Given the description of an element on the screen output the (x, y) to click on. 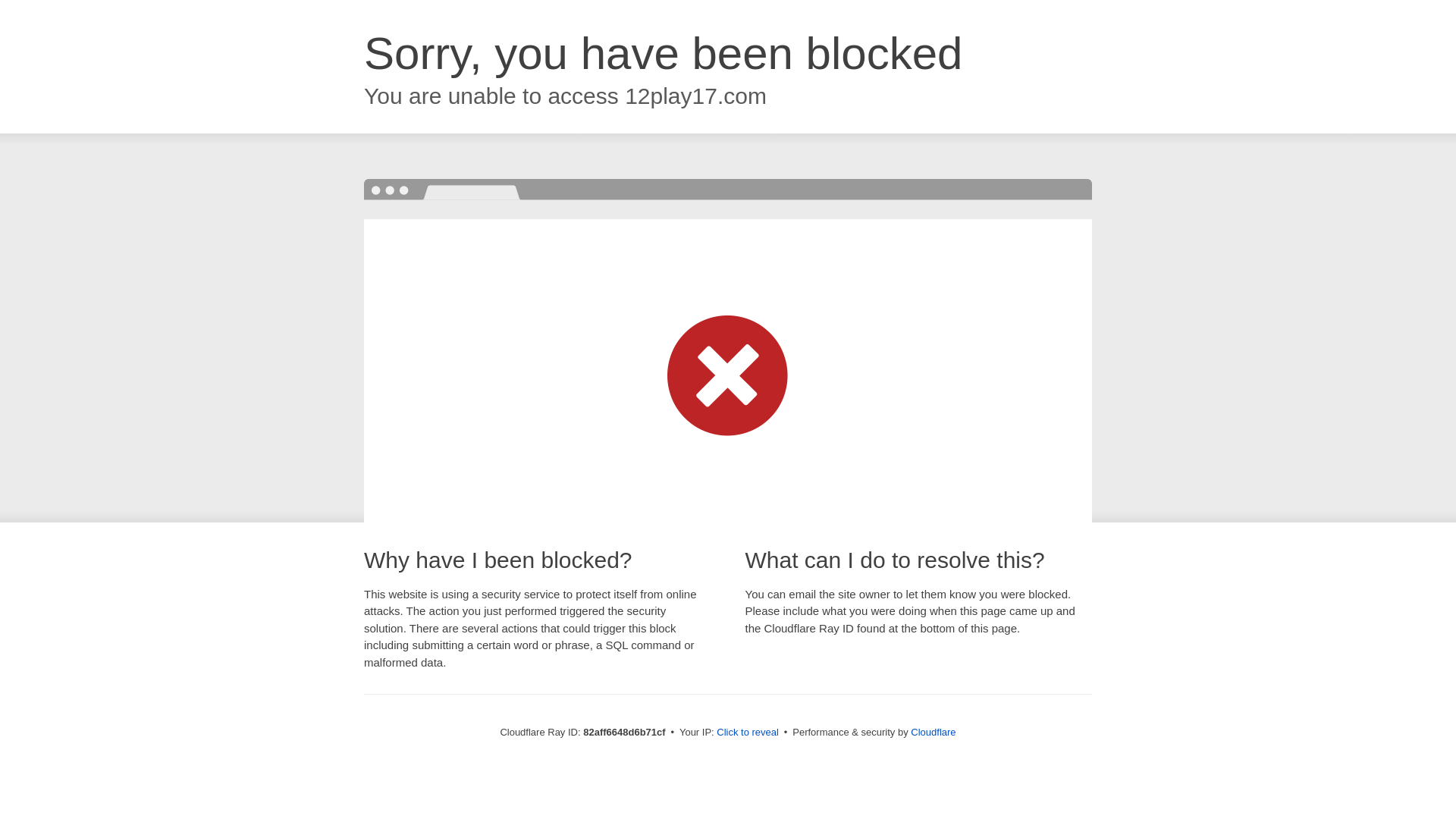
Cloudflare Element type: text (932, 731)
Click to reveal Element type: text (747, 732)
